Given the description of an element on the screen output the (x, y) to click on. 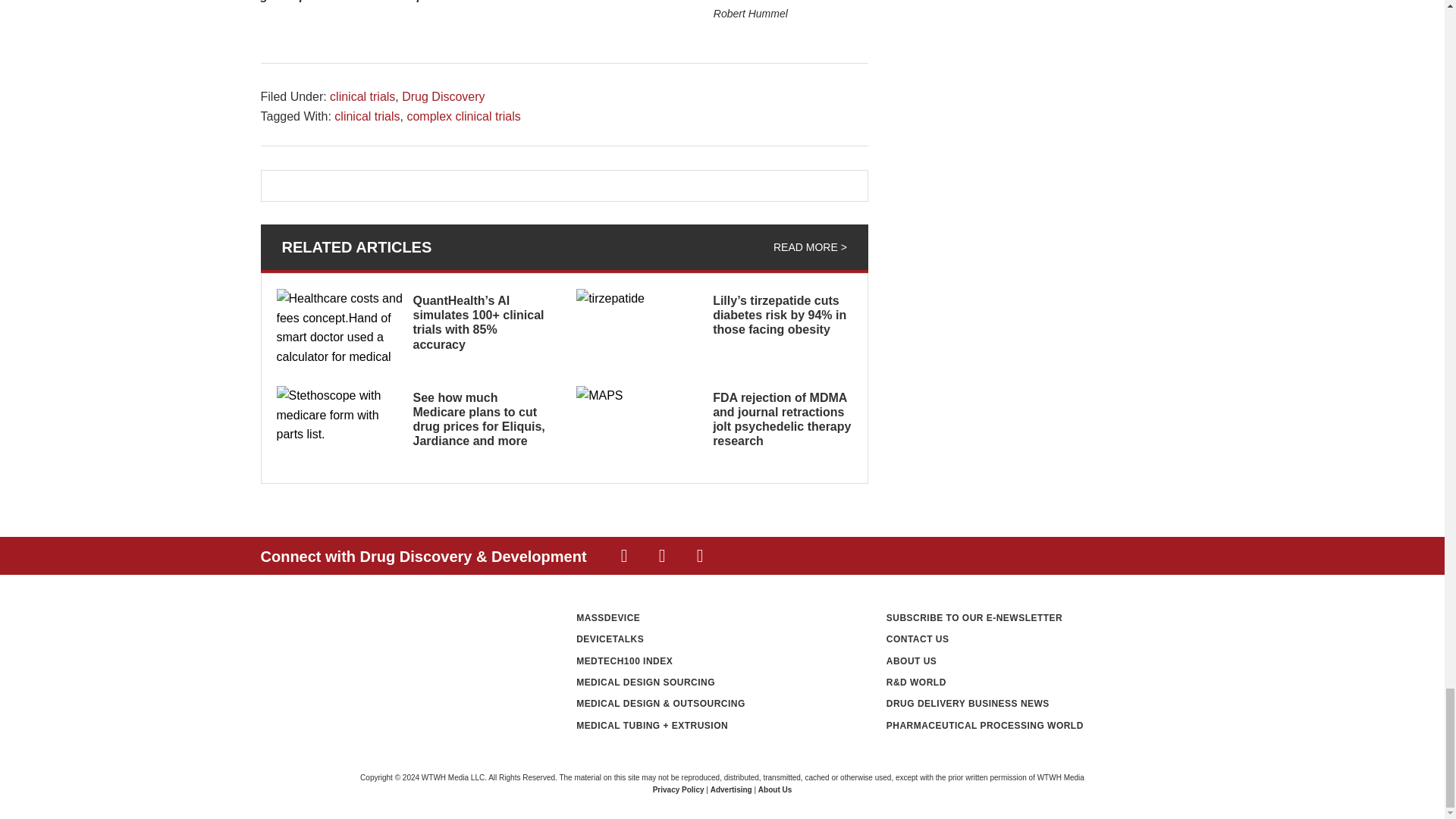
clinical trials (366, 115)
complex clinical trials (462, 115)
Drug Discovery (442, 96)
clinical trials (362, 96)
